Given the description of an element on the screen output the (x, y) to click on. 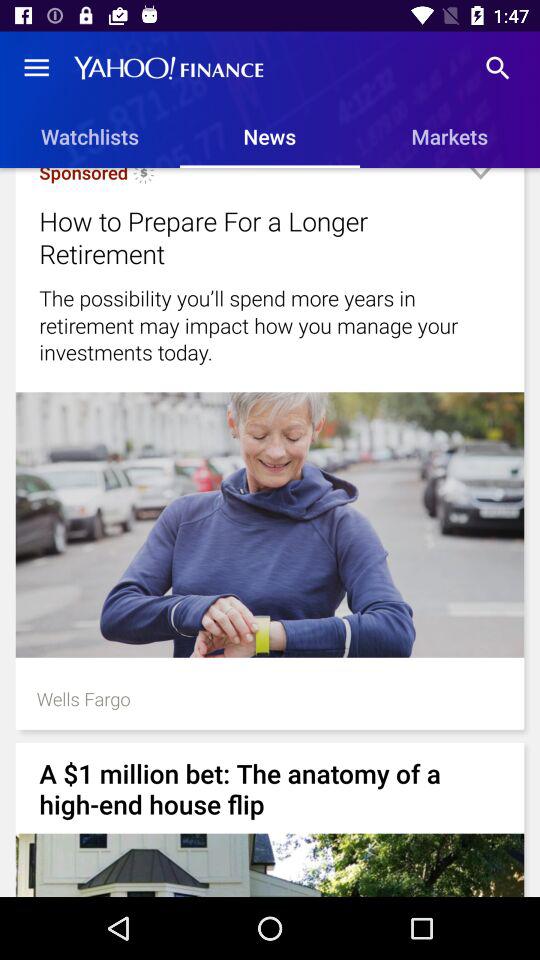
favorite the item (480, 181)
